Given the description of an element on the screen output the (x, y) to click on. 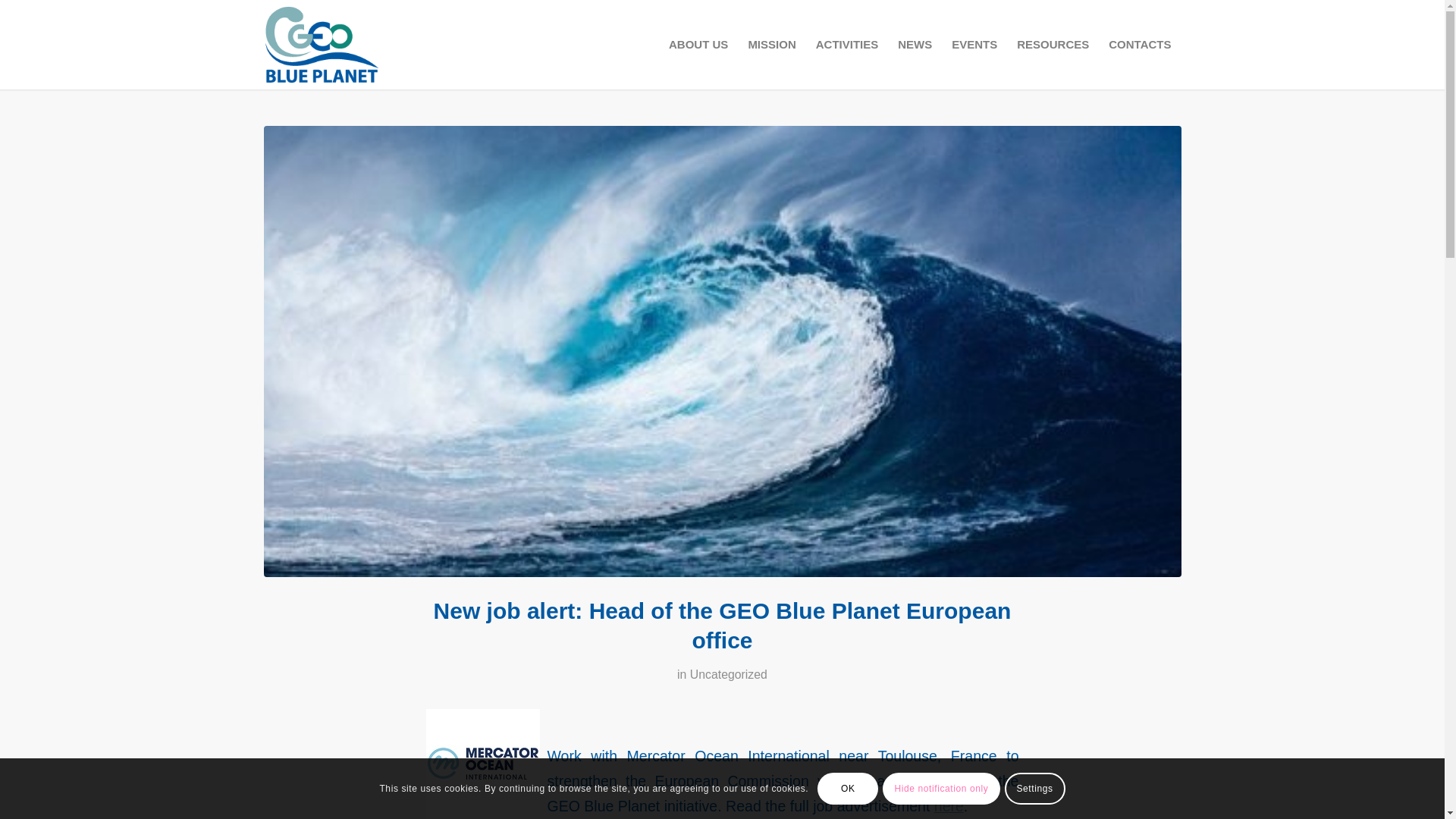
GEO-Blue-Planet-logo (358, 44)
Hide notification only (940, 788)
RESOURCES (1053, 44)
CONTACTS (1139, 44)
OK (846, 788)
ACTIVITIES (847, 44)
here (948, 805)
